Given the description of an element on the screen output the (x, y) to click on. 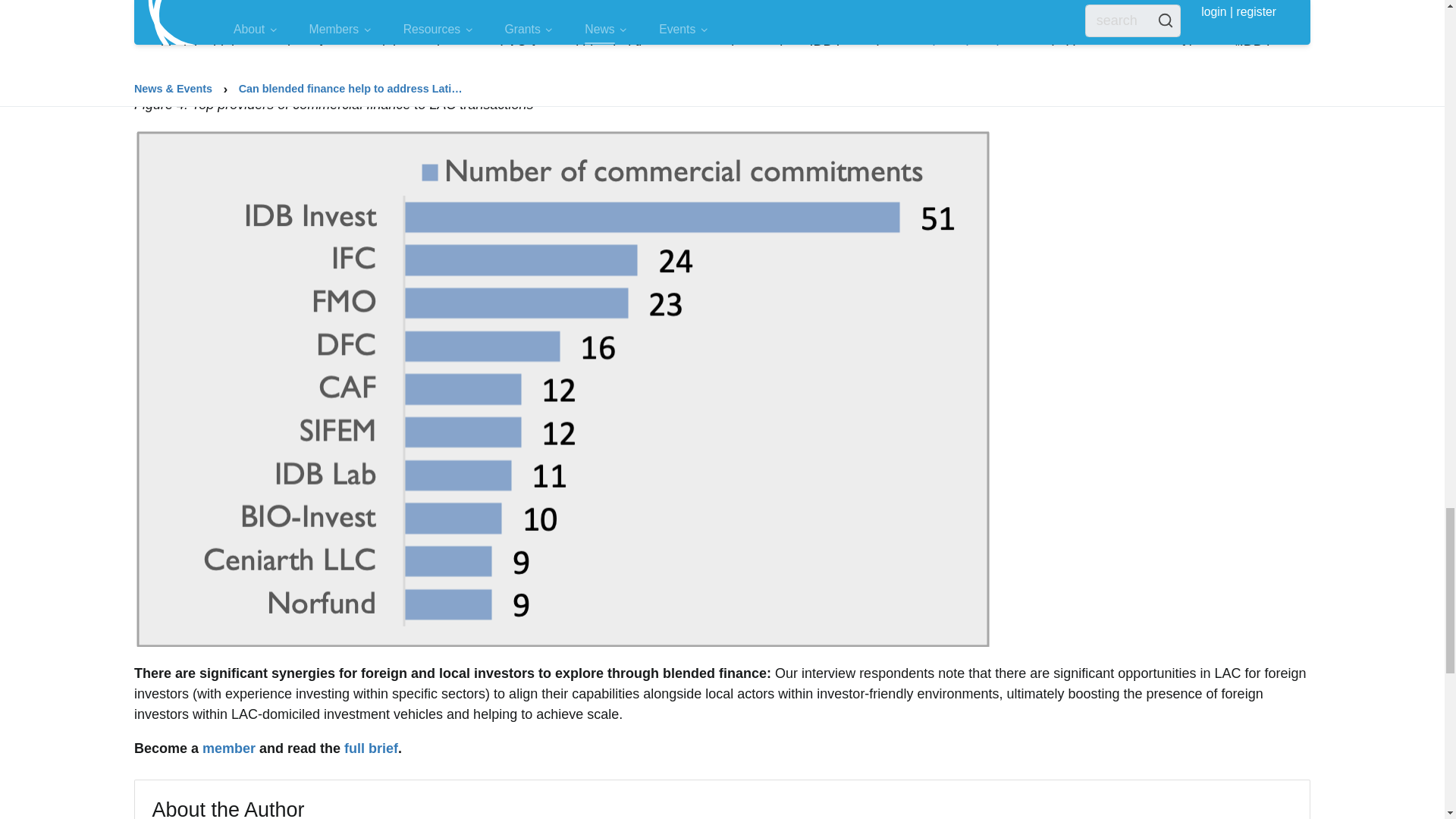
currently undergoing (951, 49)
member (229, 748)
full brief (370, 748)
